Given the description of an element on the screen output the (x, y) to click on. 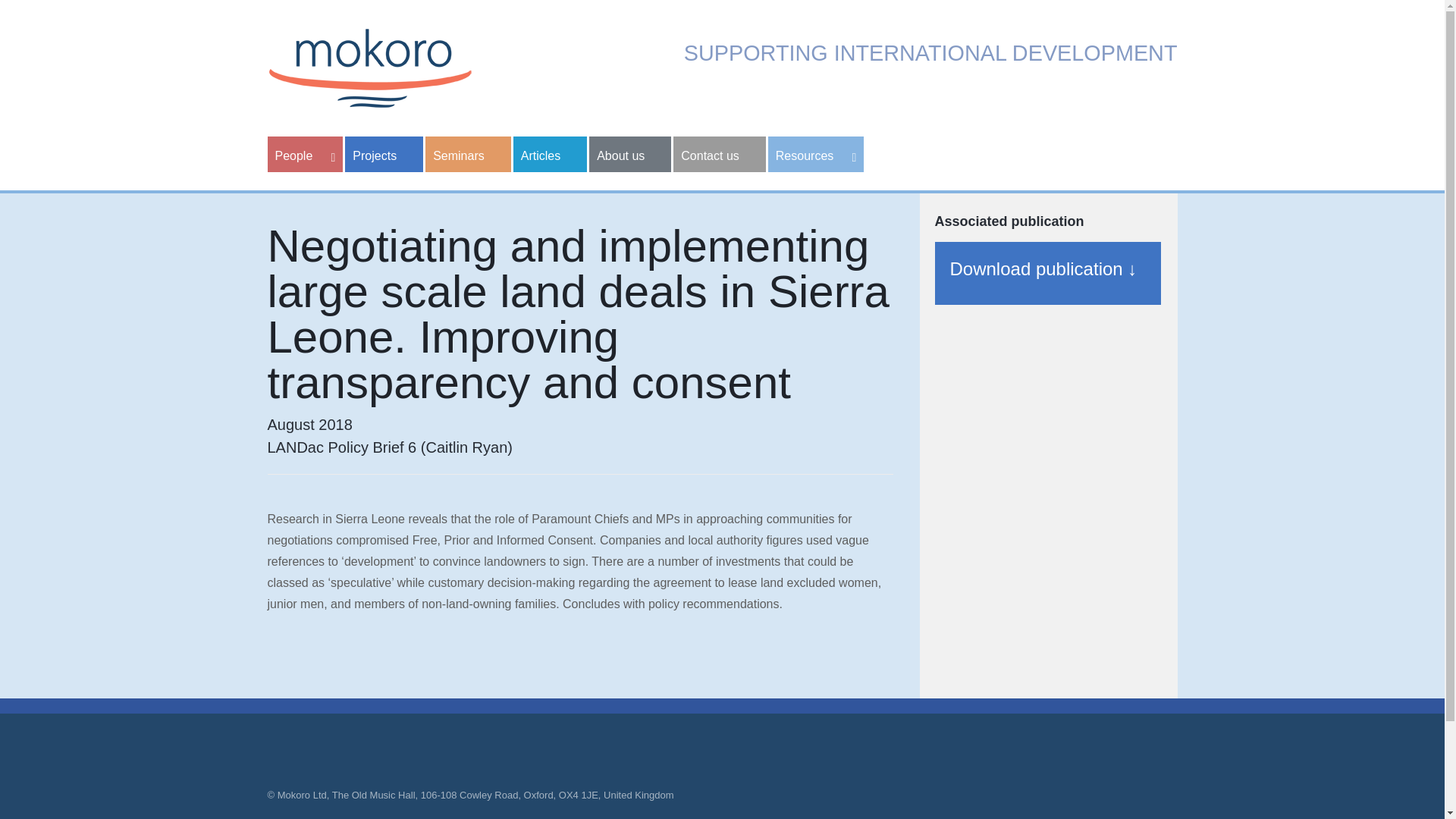
Contact us (718, 153)
Mokoro (368, 67)
People (304, 153)
Projects (384, 153)
Seminars (468, 153)
Articles (549, 153)
Resources (815, 153)
About us (630, 153)
